Given the description of an element on the screen output the (x, y) to click on. 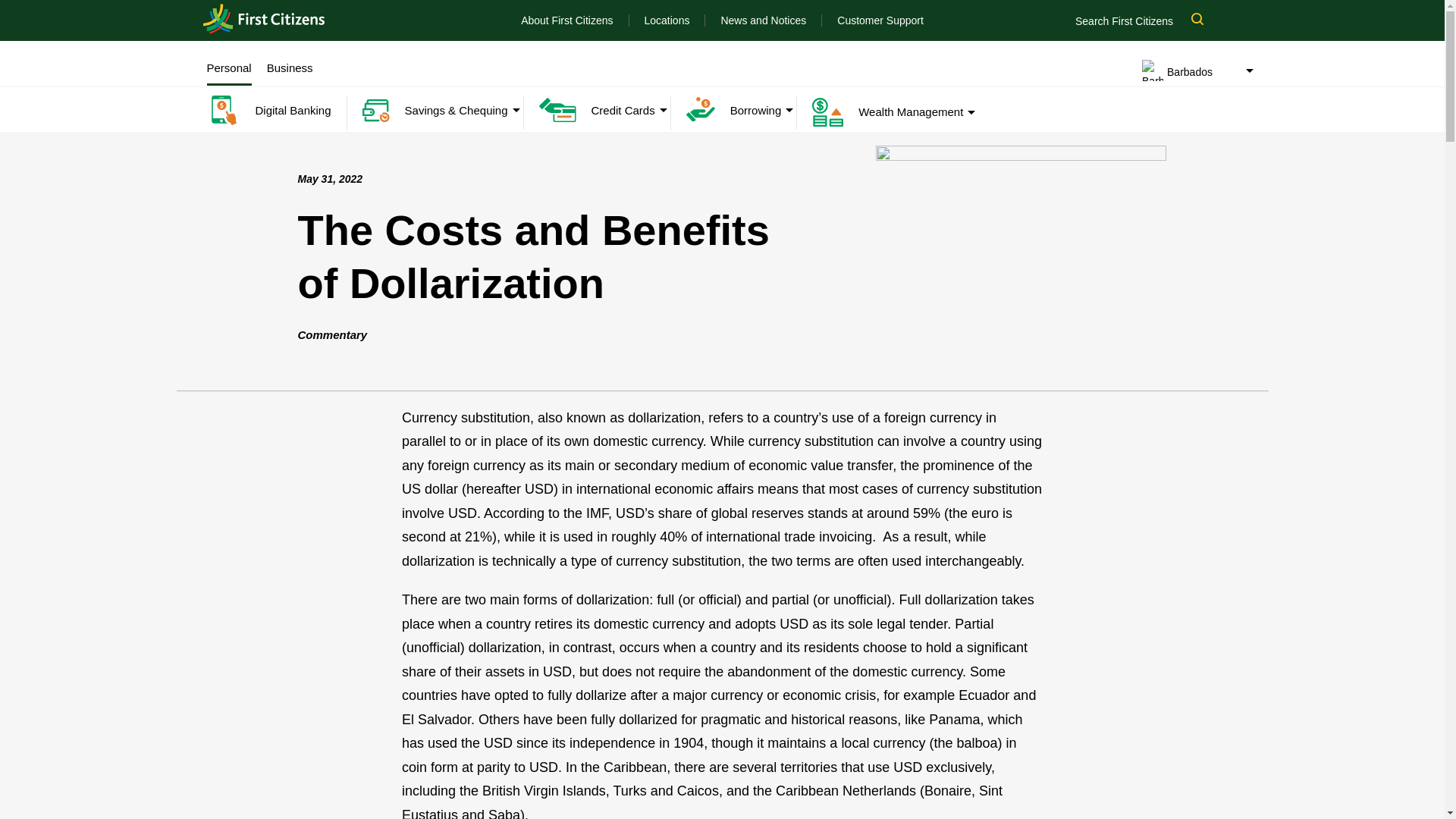
Customer Support (880, 20)
Personal (228, 68)
Digital Banking (268, 110)
About First Citizens (566, 20)
News and Notices (763, 20)
Barbados (263, 20)
Locations (667, 20)
Wealth Management (879, 112)
Search First Citizens (1146, 20)
Business (289, 68)
